Given the description of an element on the screen output the (x, y) to click on. 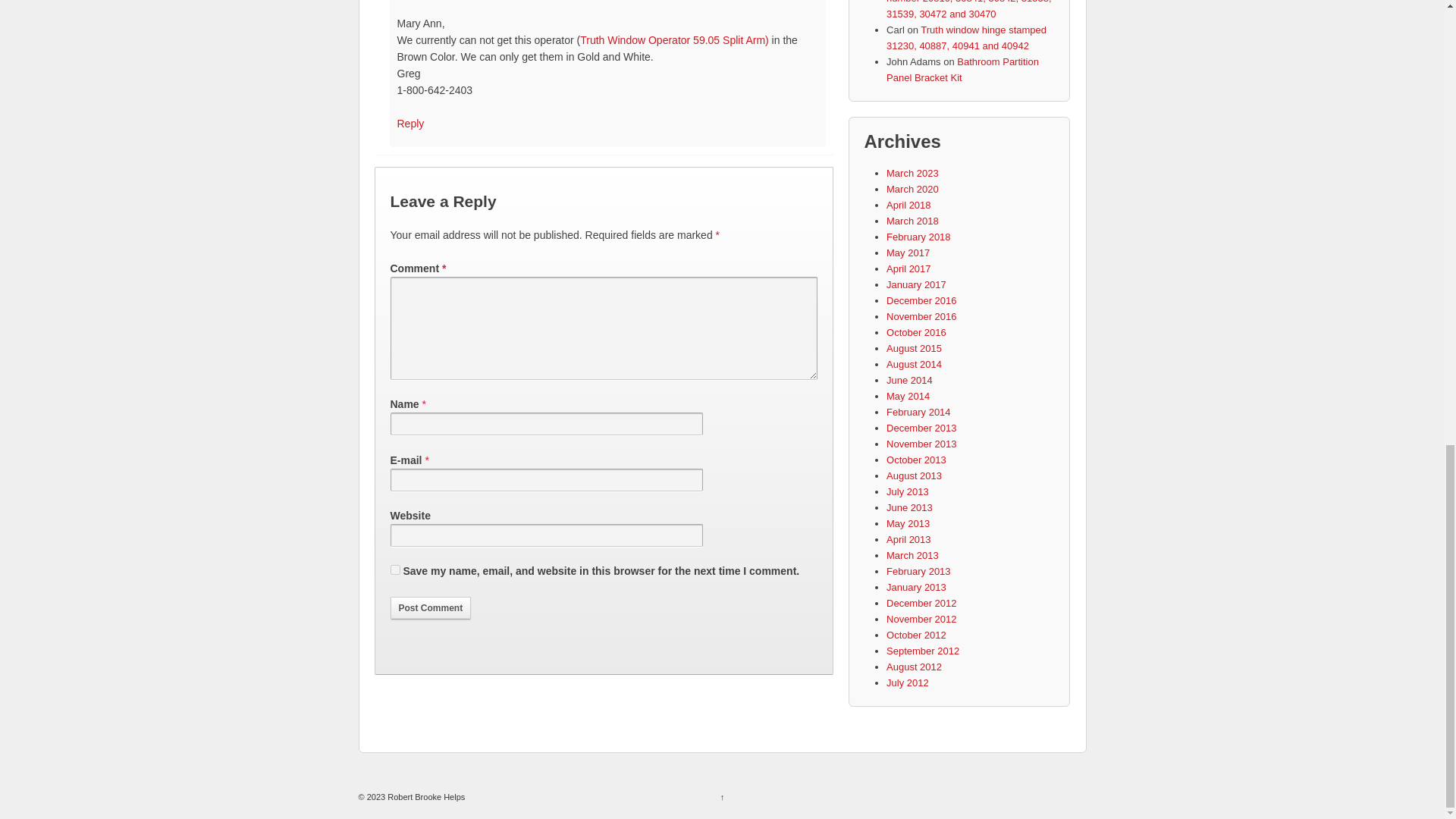
Reply (411, 123)
Robert Brooke Helps (424, 796)
Post Comment (430, 608)
Post Comment (430, 608)
yes (394, 569)
